Given the description of an element on the screen output the (x, y) to click on. 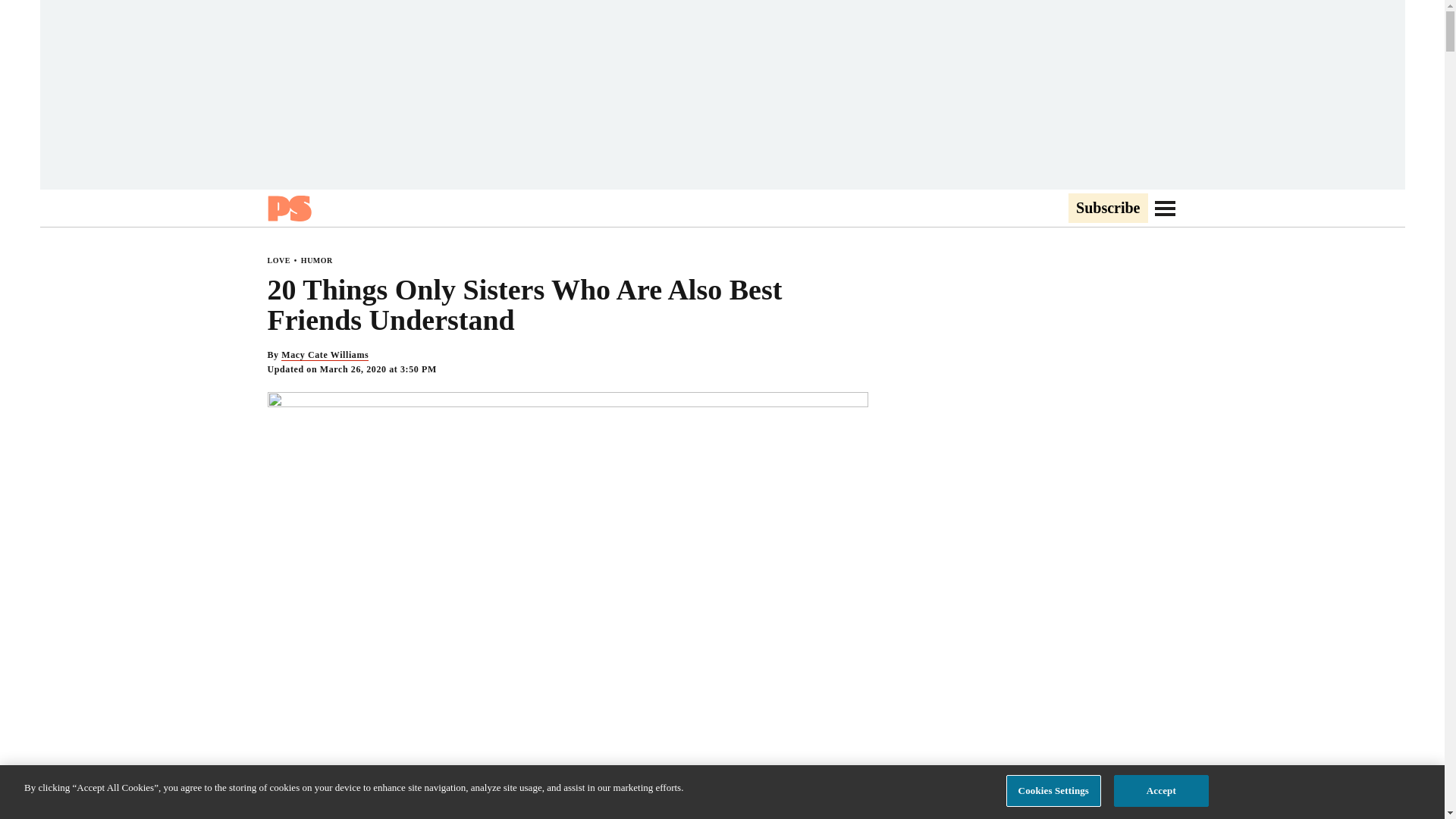
Subscribe (1107, 208)
HUMOR (317, 260)
Macy Cate Williams (324, 355)
LOVE (277, 260)
Go to Navigation (1164, 207)
Popsugar (288, 208)
Go to Navigation (1164, 207)
